Given the description of an element on the screen output the (x, y) to click on. 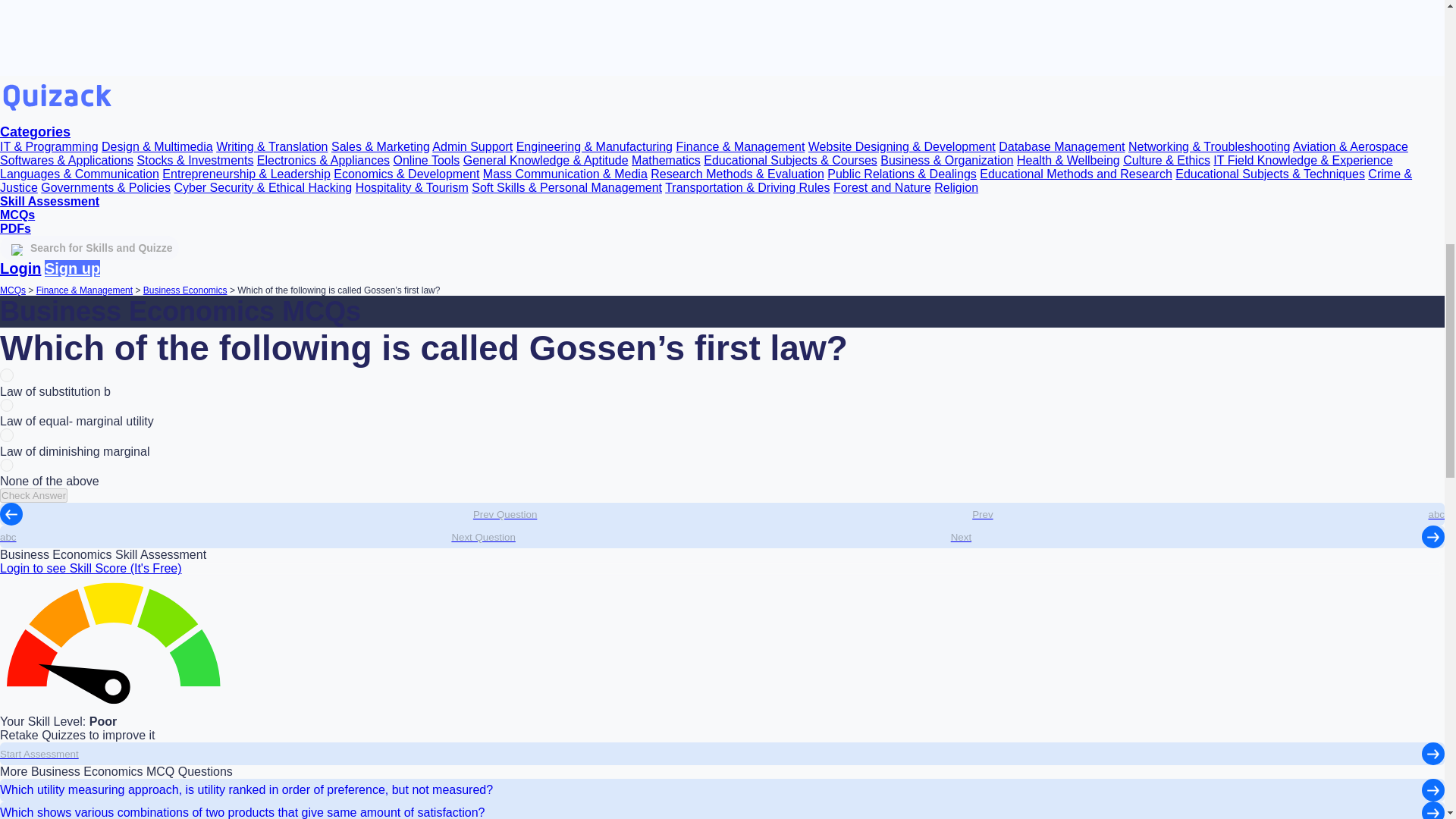
on (6, 405)
on (6, 435)
on (6, 465)
on (6, 375)
